Given the description of an element on the screen output the (x, y) to click on. 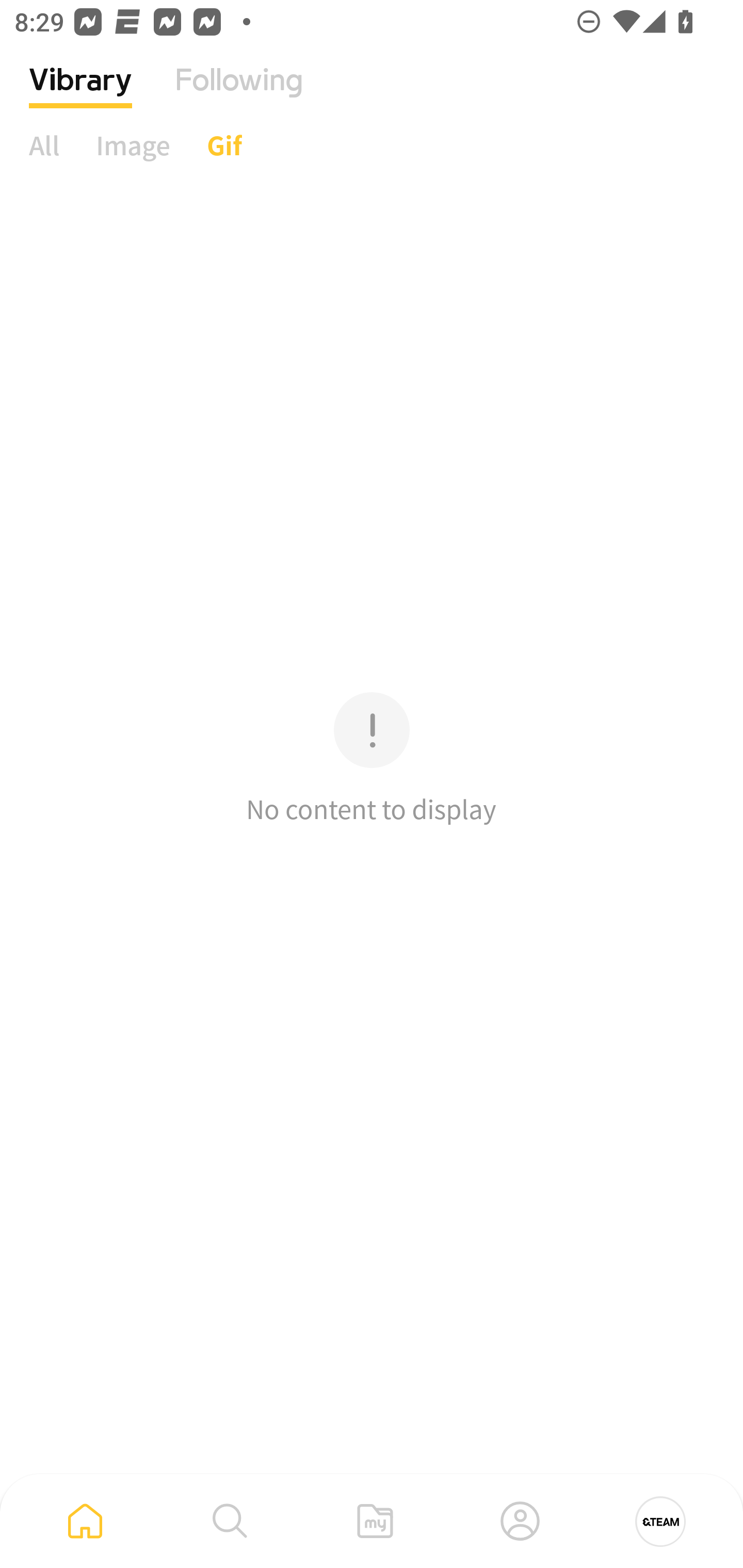
Vibrary (80, 95)
Following (239, 95)
All (44, 145)
Image (132, 145)
Gif (224, 145)
